Given the description of an element on the screen output the (x, y) to click on. 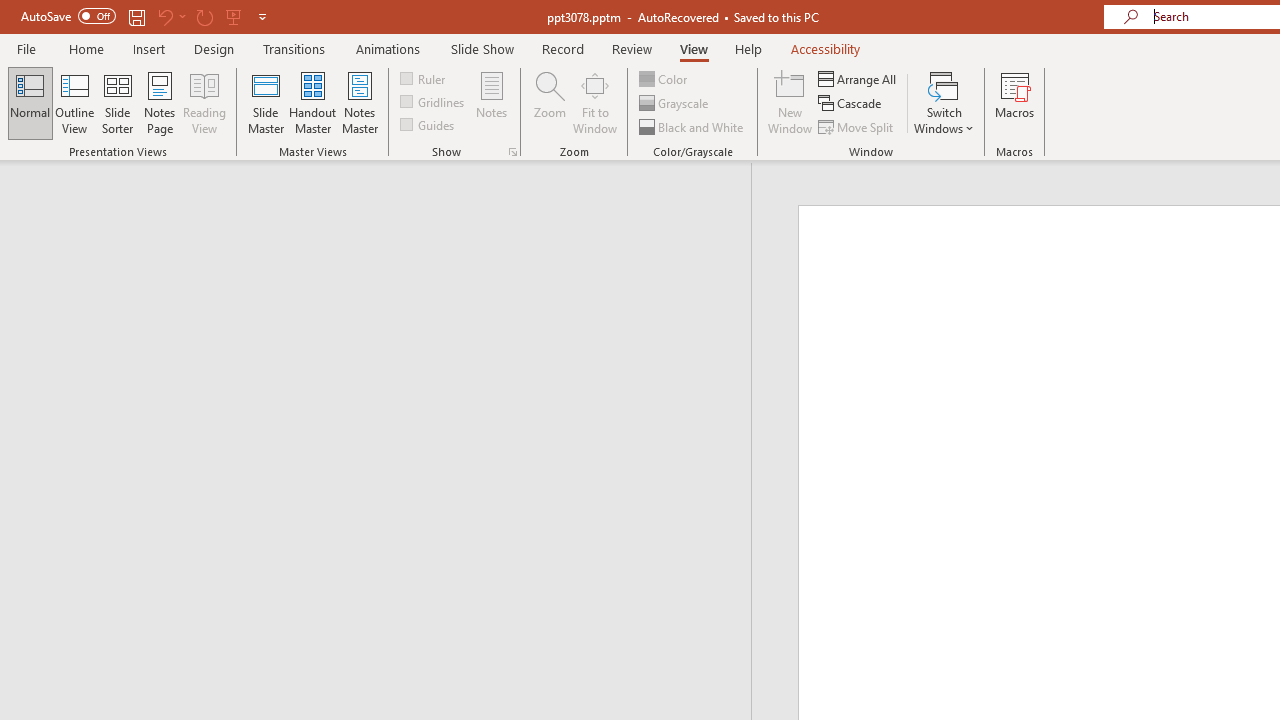
Grid Settings... (512, 151)
Arrange All (858, 78)
Fit to Window (594, 102)
